Given the description of an element on the screen output the (x, y) to click on. 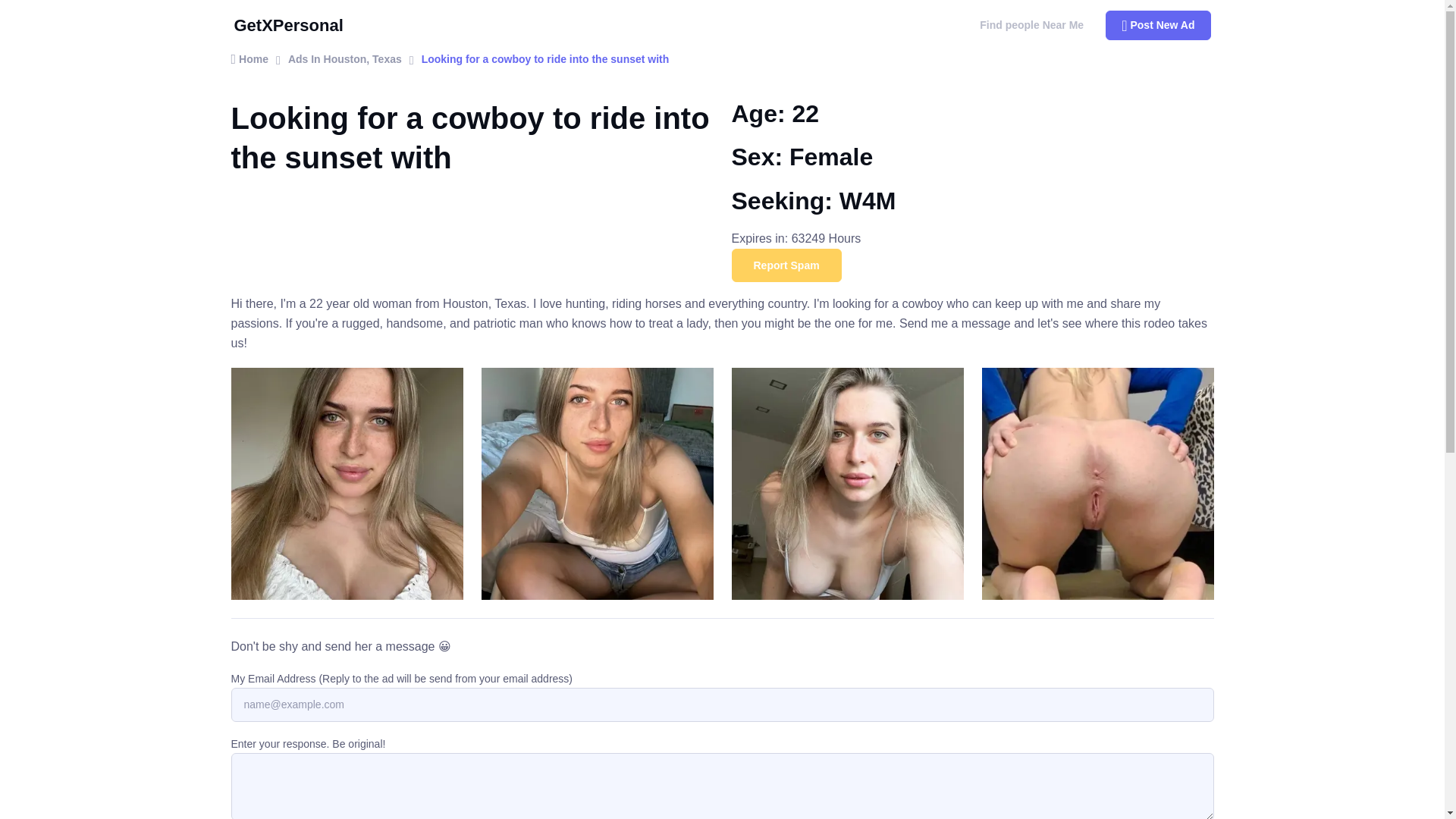
Report Spam (785, 264)
Find people Near Me (1031, 24)
Home (248, 58)
Post New Ad (1157, 25)
Ads In Houston, Texas (344, 58)
GetXPersonal (293, 25)
